Given the description of an element on the screen output the (x, y) to click on. 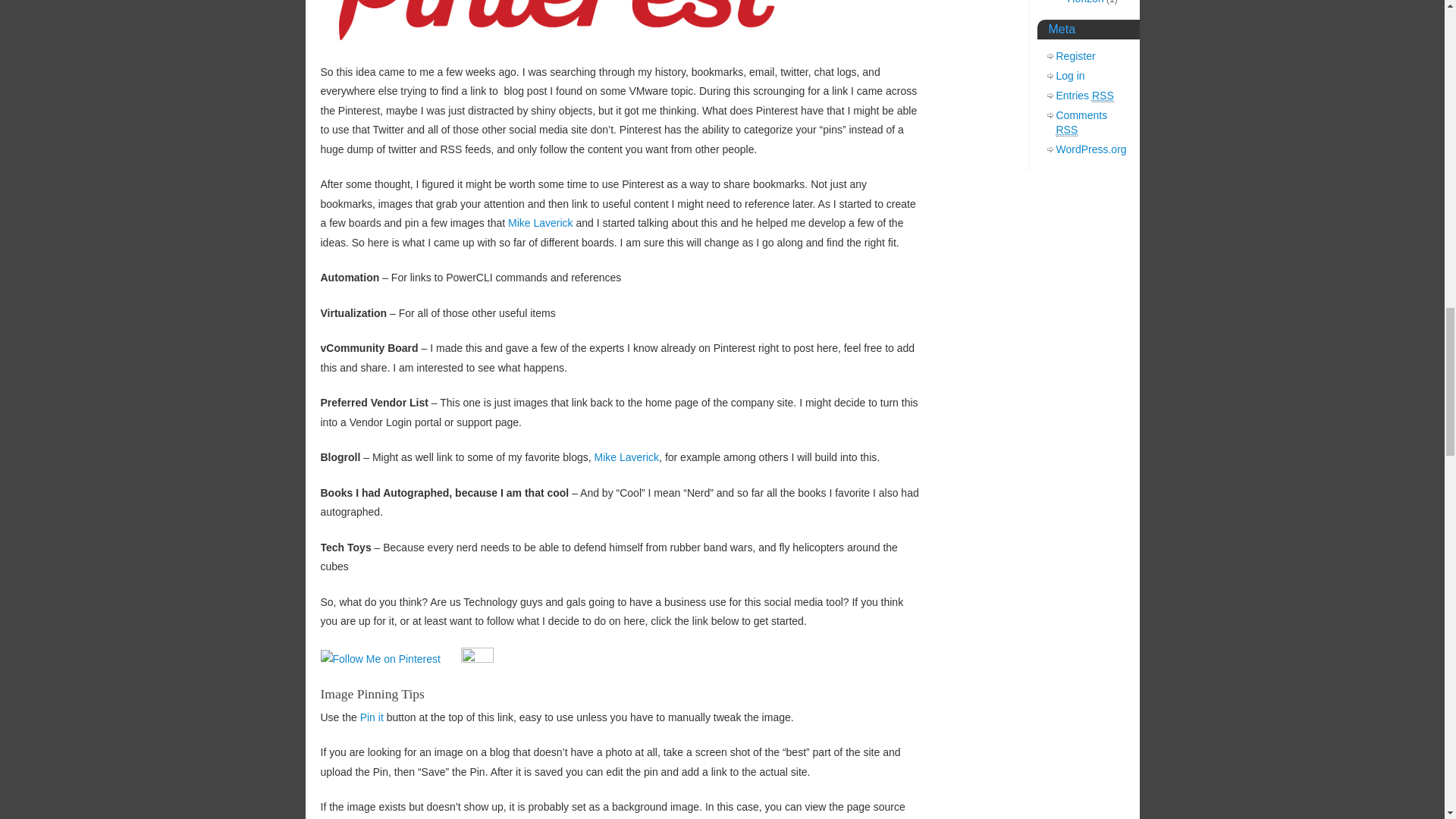
Mike Laverick on Pinterest (540, 223)
Mike Laverick on VMware Blog (626, 457)
